Given the description of an element on the screen output the (x, y) to click on. 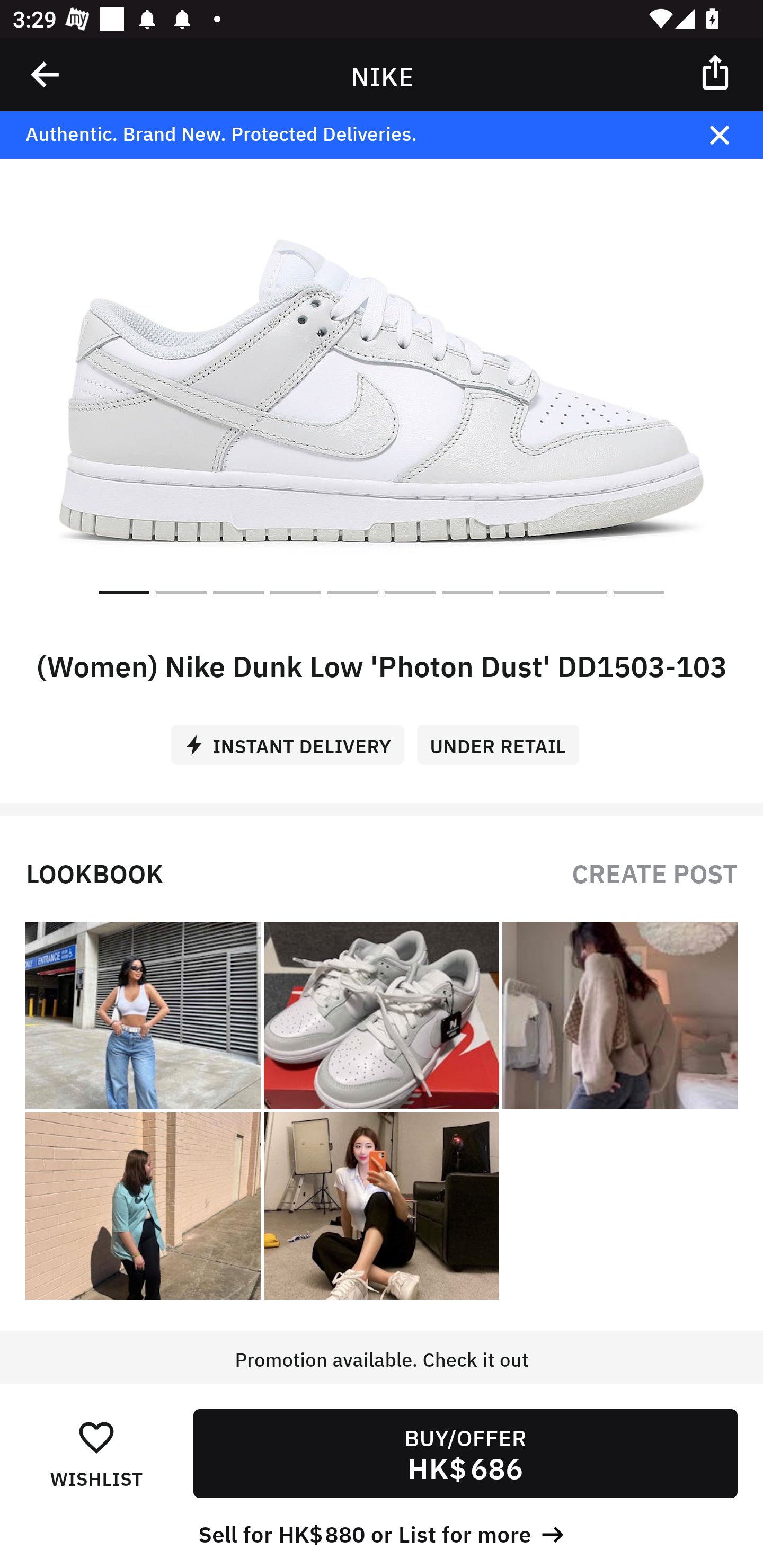
 (46, 74)
 (716, 70)
Authentic. Brand New. Protected Deliveries. (350, 134)
 (732, 134)
 INSTANT DELIVERY (293, 738)
UNDER RETAIL (504, 738)
CREATE POST (654, 872)
Promotion available. Check it out (381, 1377)
BUY/OFFER HK$ 686 (465, 1453)
󰋕 (95, 1435)
Sell for HK$ 880 or List for more (381, 1532)
